Given the description of an element on the screen output the (x, y) to click on. 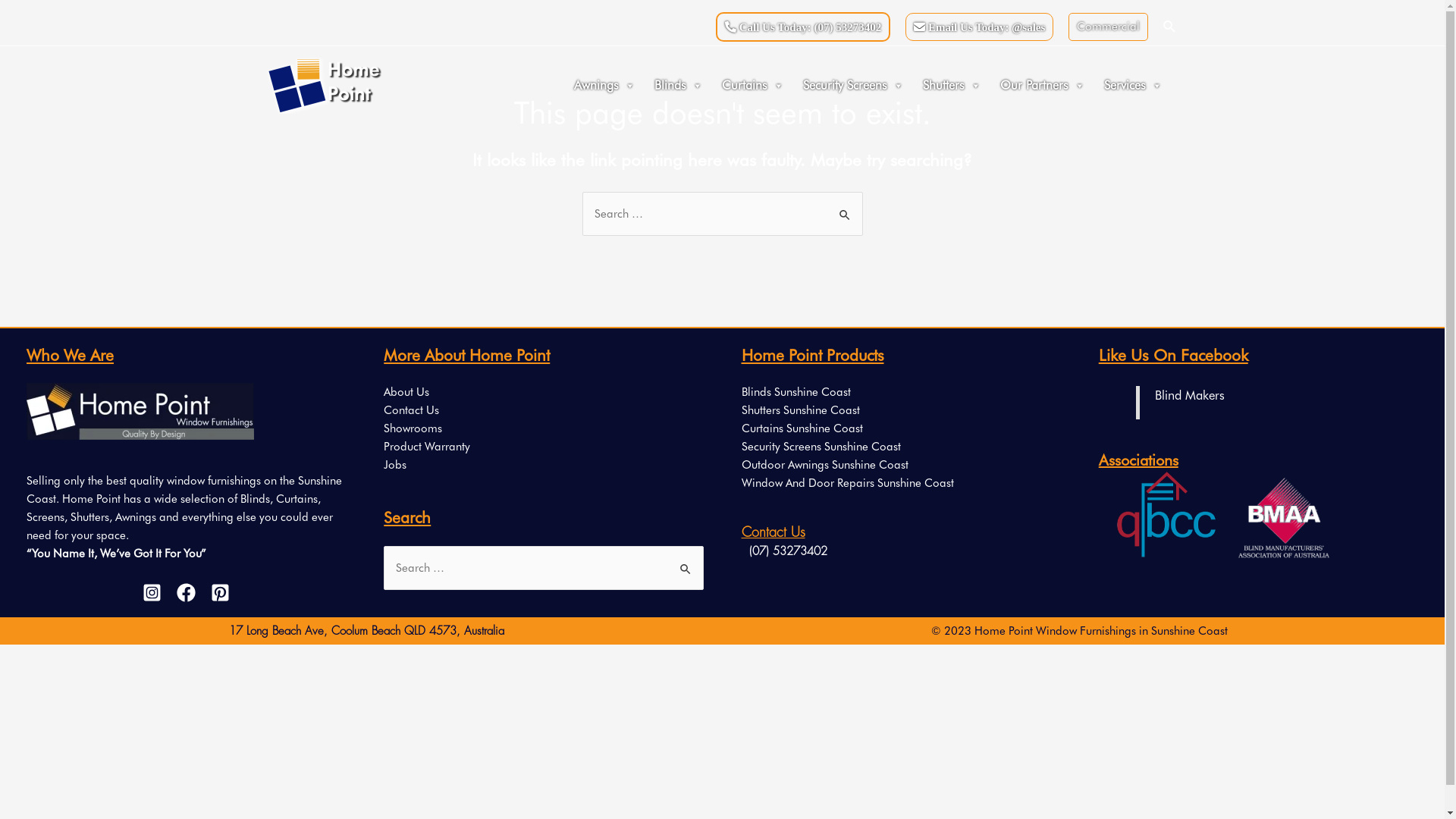
Search Element type: text (685, 561)
Call Us Today: (07) 53273402 Element type: text (802, 26)
Window And Door Repairs Sunshine Coast Element type: text (847, 482)
Awnings Element type: text (606, 85)
Security Screens Element type: text (855, 85)
Curtains Sunshine Coast Element type: text (801, 428)
Who We Are Element type: hover (140, 410)
Security Screens Sunshine Coast Element type: text (820, 446)
Shutters Element type: text (953, 85)
Outdoor Awnings Sunshine Coast Element type: text (824, 464)
Curtains Element type: text (753, 85)
Commercial Element type: text (1108, 26)
Search Element type: text (845, 206)
Blinds Sunshine Coast Element type: text (795, 391)
About Us Element type: text (406, 391)
Showrooms Element type: text (412, 428)
Blinds Element type: text (680, 85)
Email Us Today: @sales Element type: text (979, 26)
(07) 53273402 Element type: text (784, 552)
Blind Makers Element type: text (1189, 394)
Shutters Sunshine Coast Element type: text (800, 410)
Jobs Element type: text (394, 464)
Our Partners Element type: text (1044, 85)
Search Element type: text (1169, 25)
Product Warranty Element type: text (426, 446)
Services Element type: text (1134, 85)
Contact Us Element type: text (411, 410)
